Given the description of an element on the screen output the (x, y) to click on. 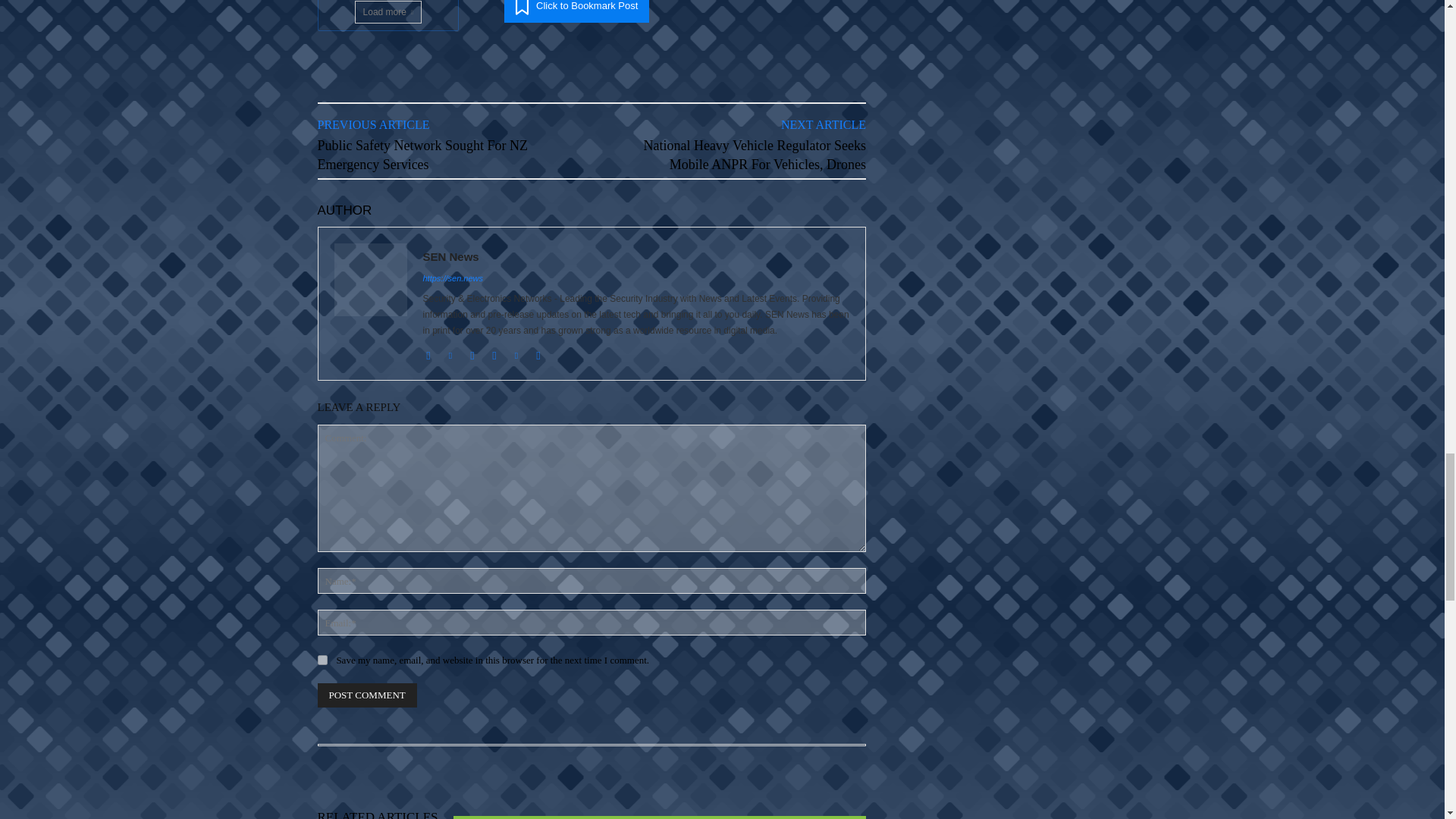
Post Comment (366, 695)
yes (321, 660)
